Given the description of an element on the screen output the (x, y) to click on. 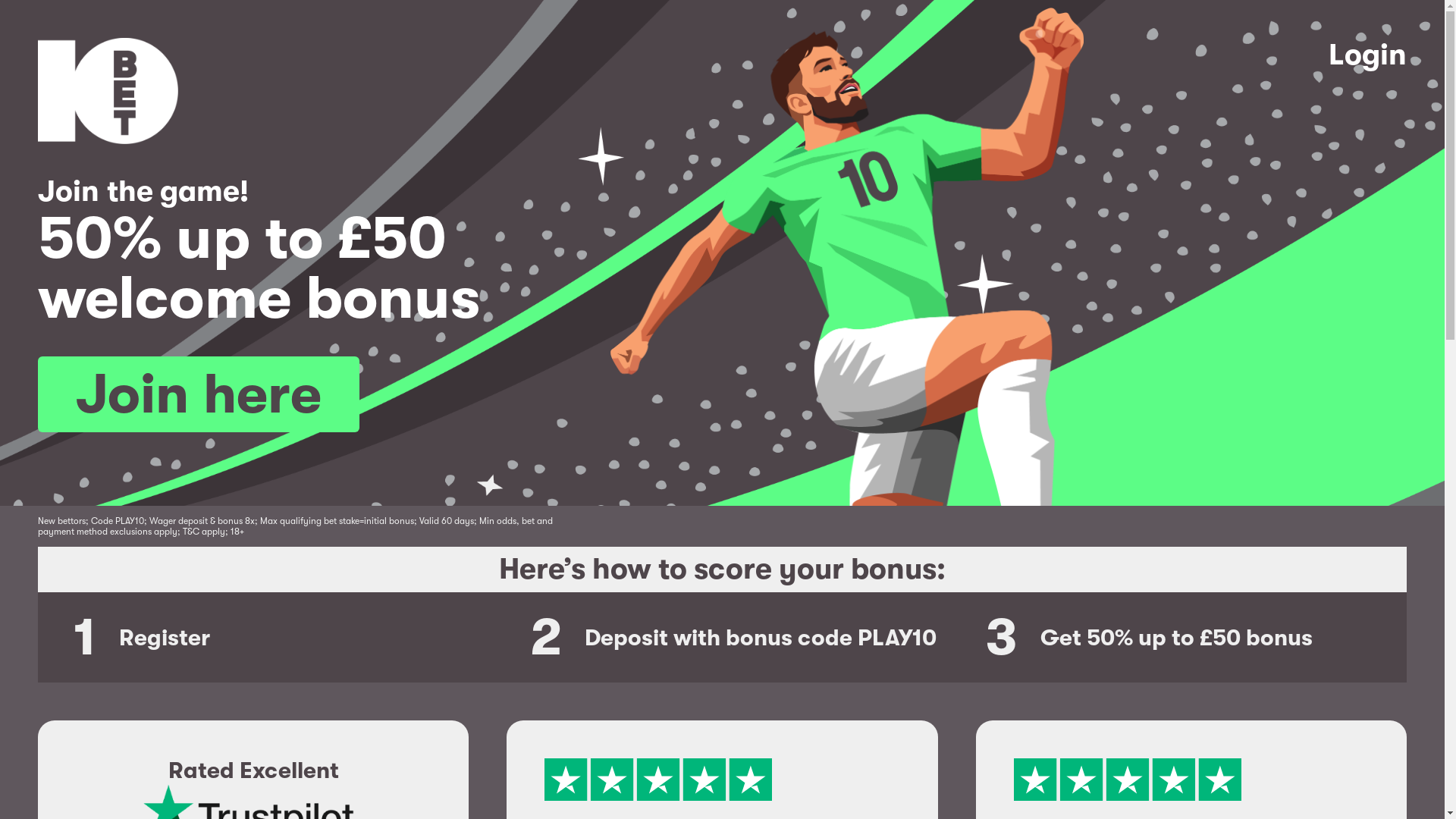
Join here Element type: text (198, 394)
Login Element type: text (1367, 90)
